Given the description of an element on the screen output the (x, y) to click on. 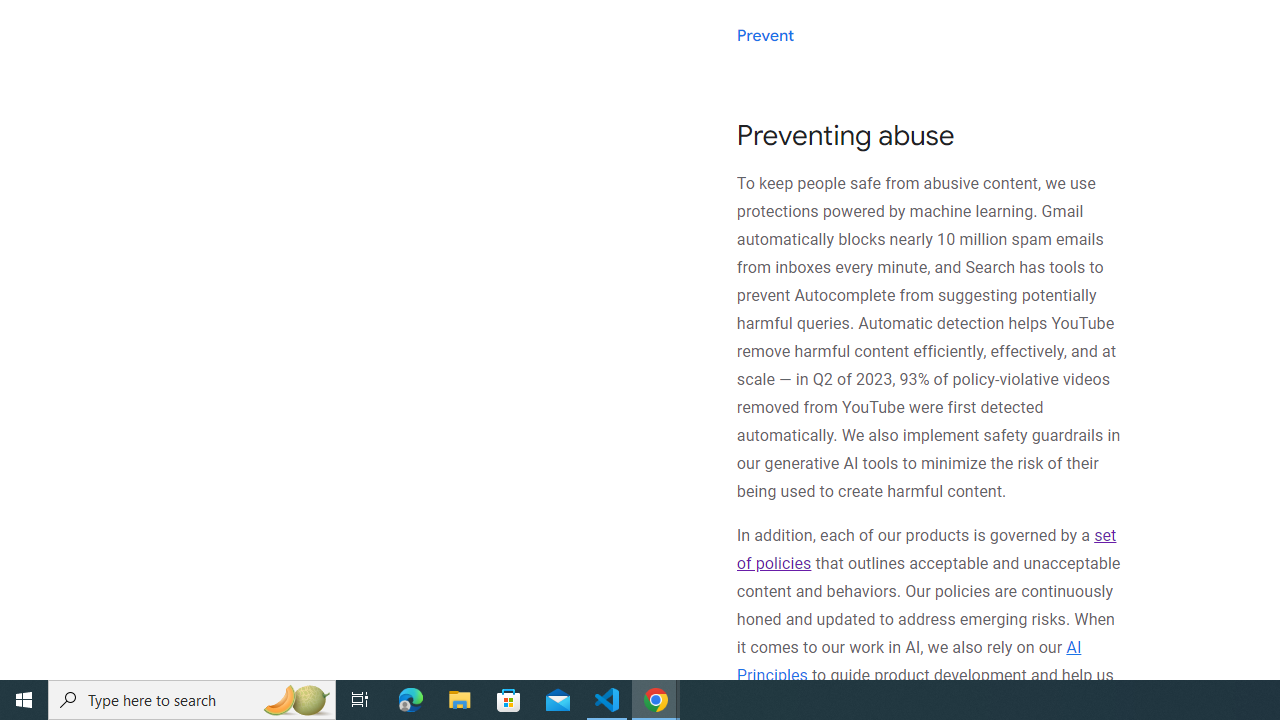
set of policies (926, 549)
AI Principles (908, 660)
